Given the description of an element on the screen output the (x, y) to click on. 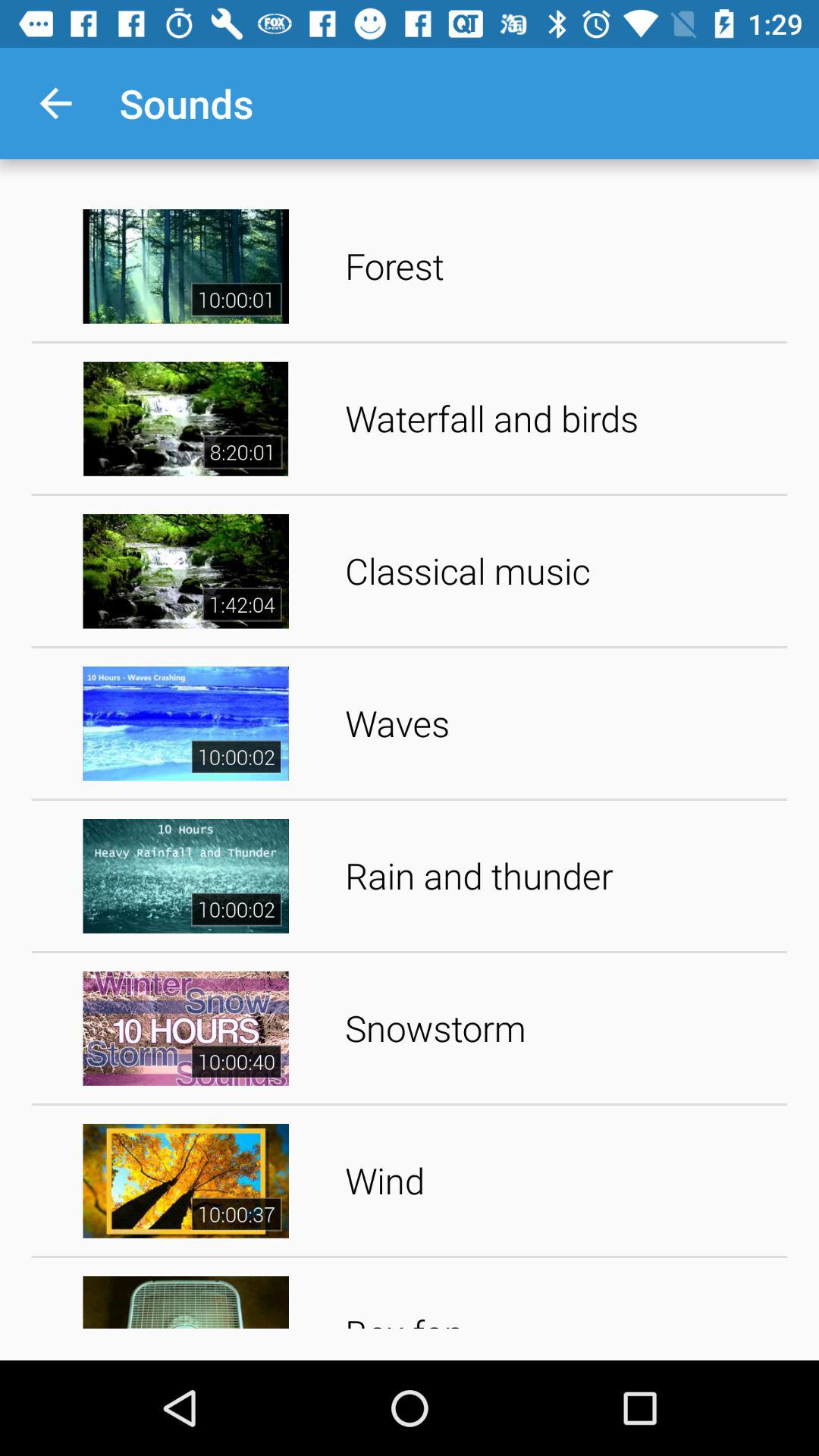
swipe until the snowstorm item (560, 1028)
